Given the description of an element on the screen output the (x, y) to click on. 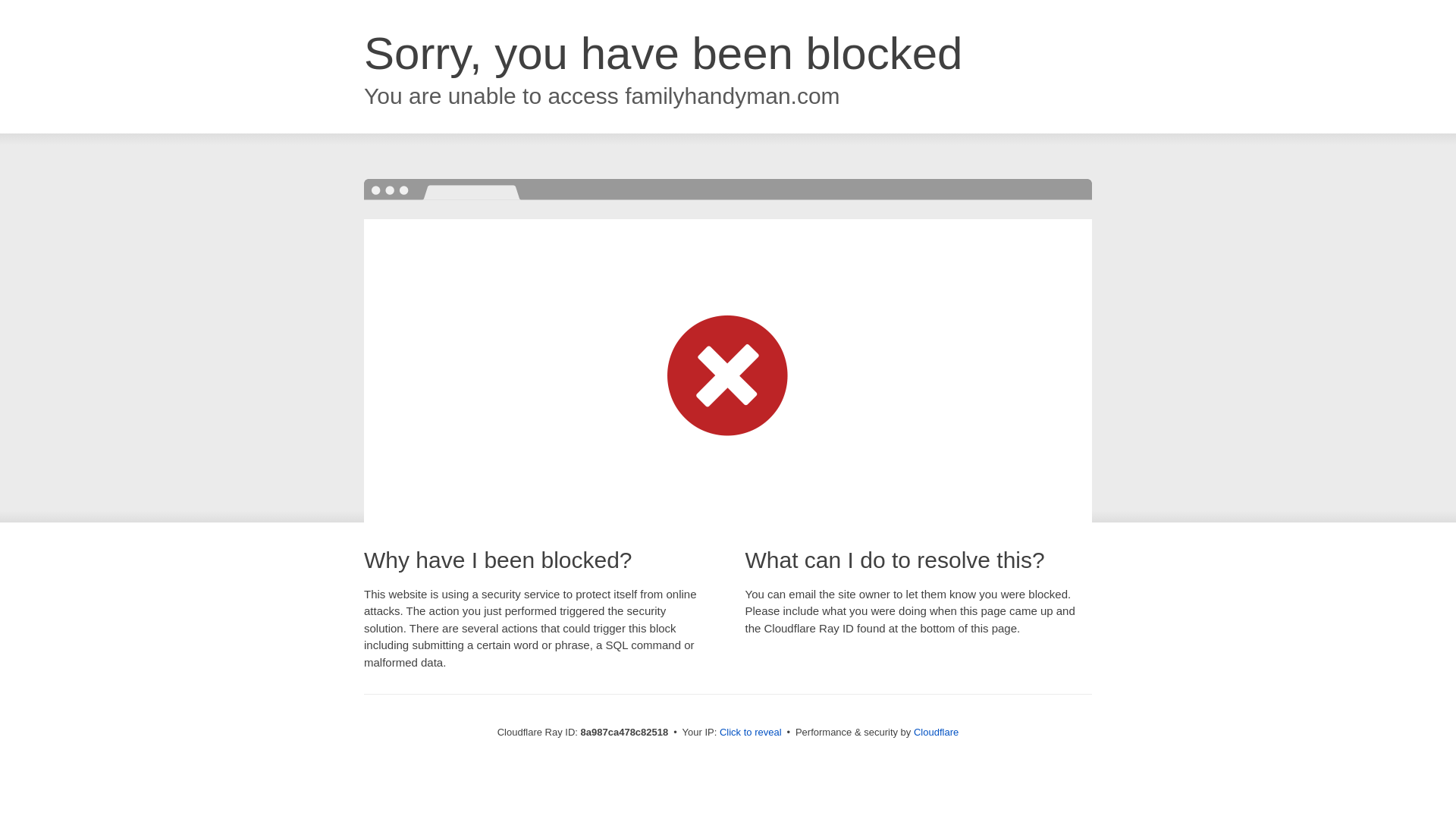
Click to reveal (750, 732)
Cloudflare (936, 731)
